Given the description of an element on the screen output the (x, y) to click on. 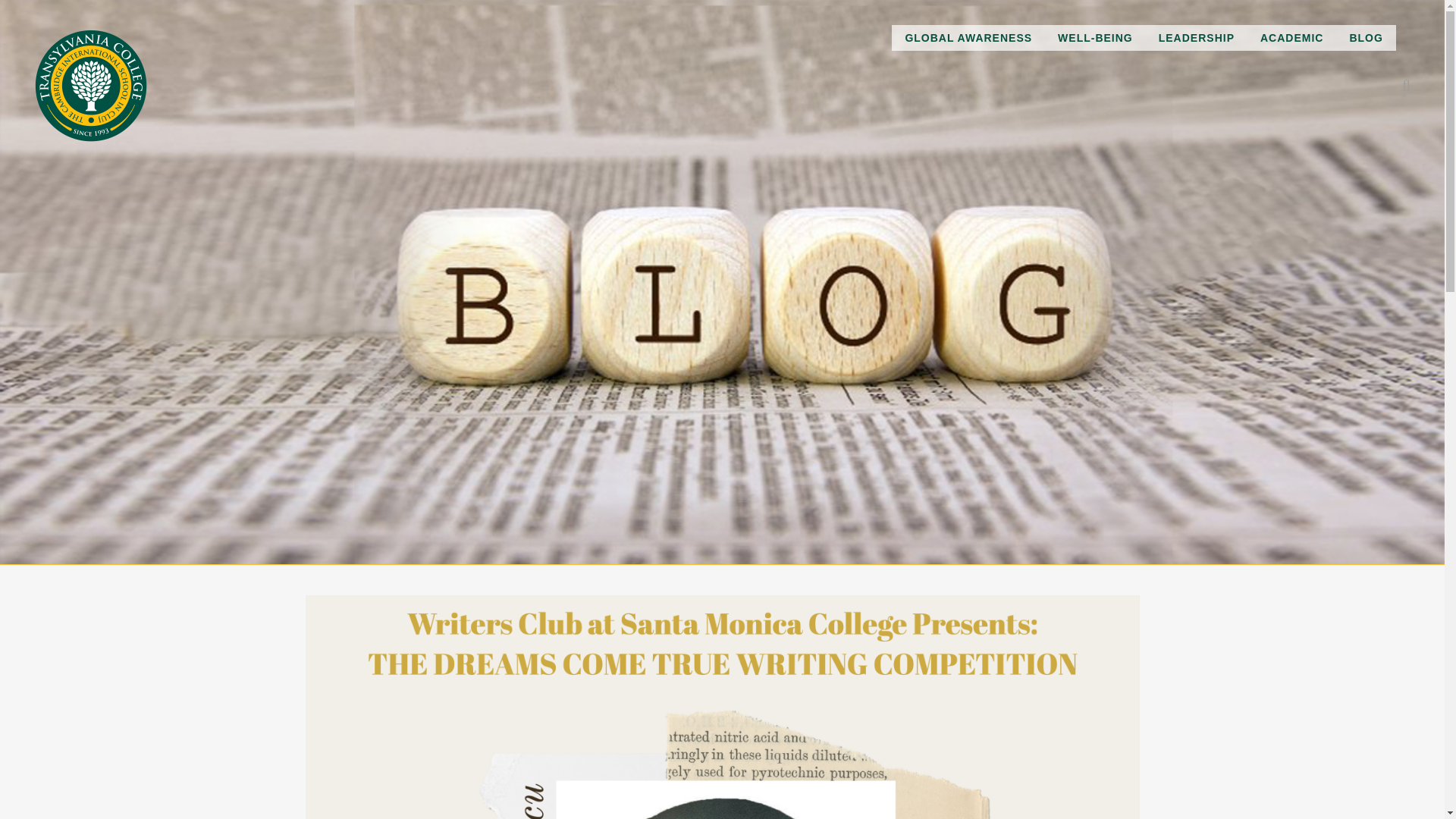
LEADERSHIP (1196, 37)
ACADEMIC (1291, 37)
GLOBAL AWARENESS (968, 37)
BLOG (1365, 37)
WELL-BEING (1095, 37)
